Given the description of an element on the screen output the (x, y) to click on. 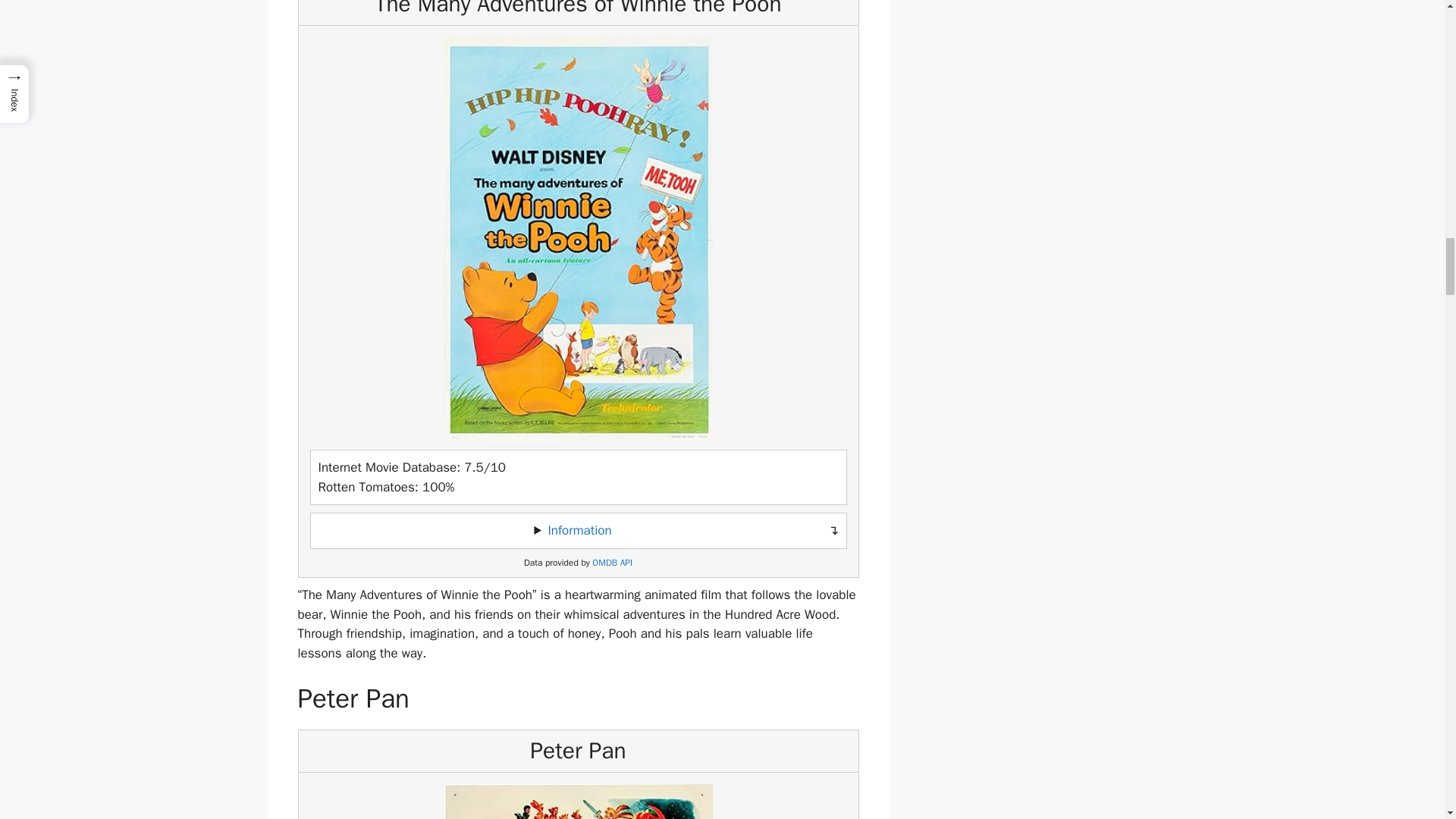
OMDB API (611, 562)
Information (579, 530)
Open Movie Database API (611, 562)
Toggle information (578, 530)
